Given the description of an element on the screen output the (x, y) to click on. 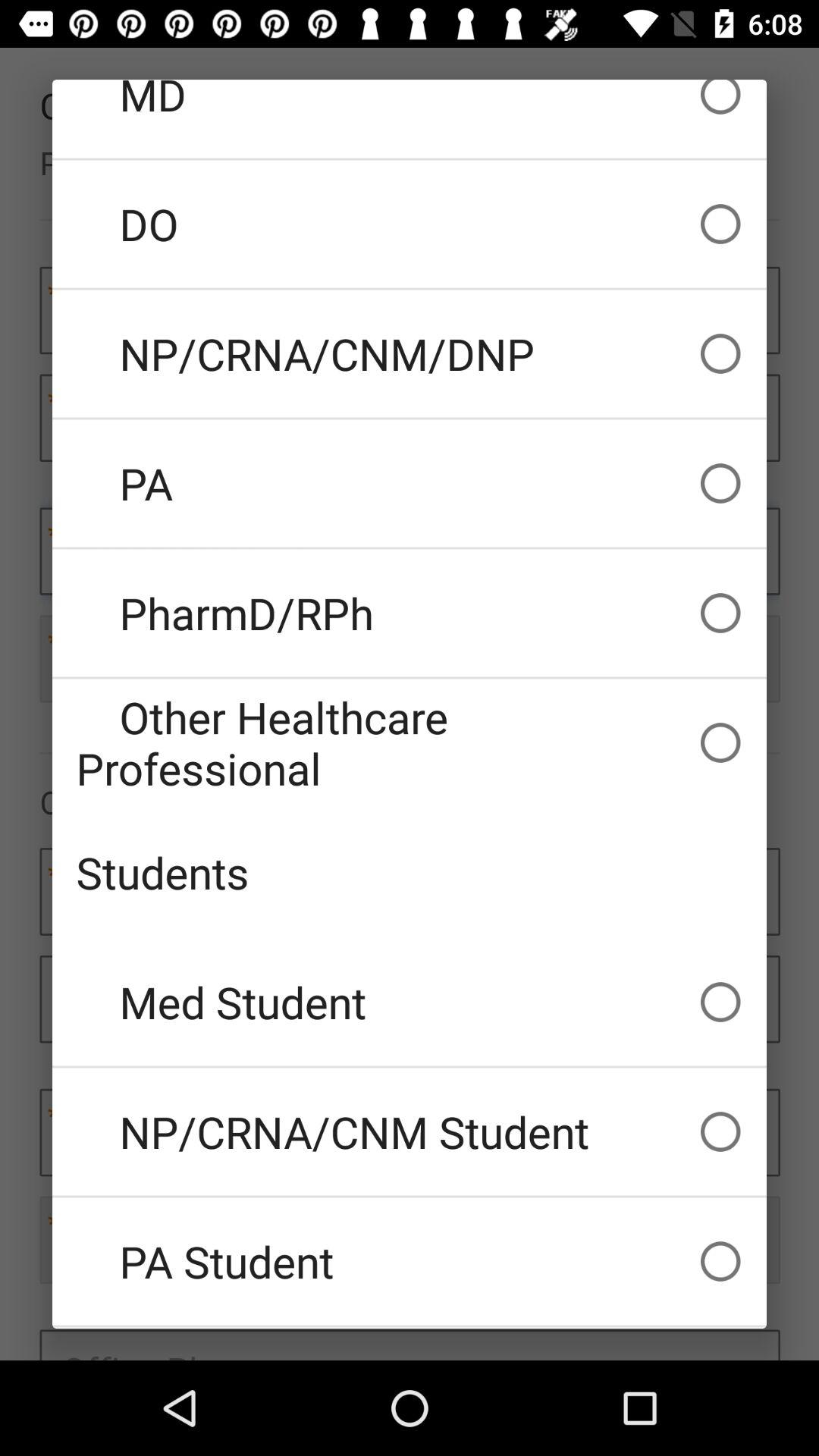
jump until do item (409, 223)
